Given the description of an element on the screen output the (x, y) to click on. 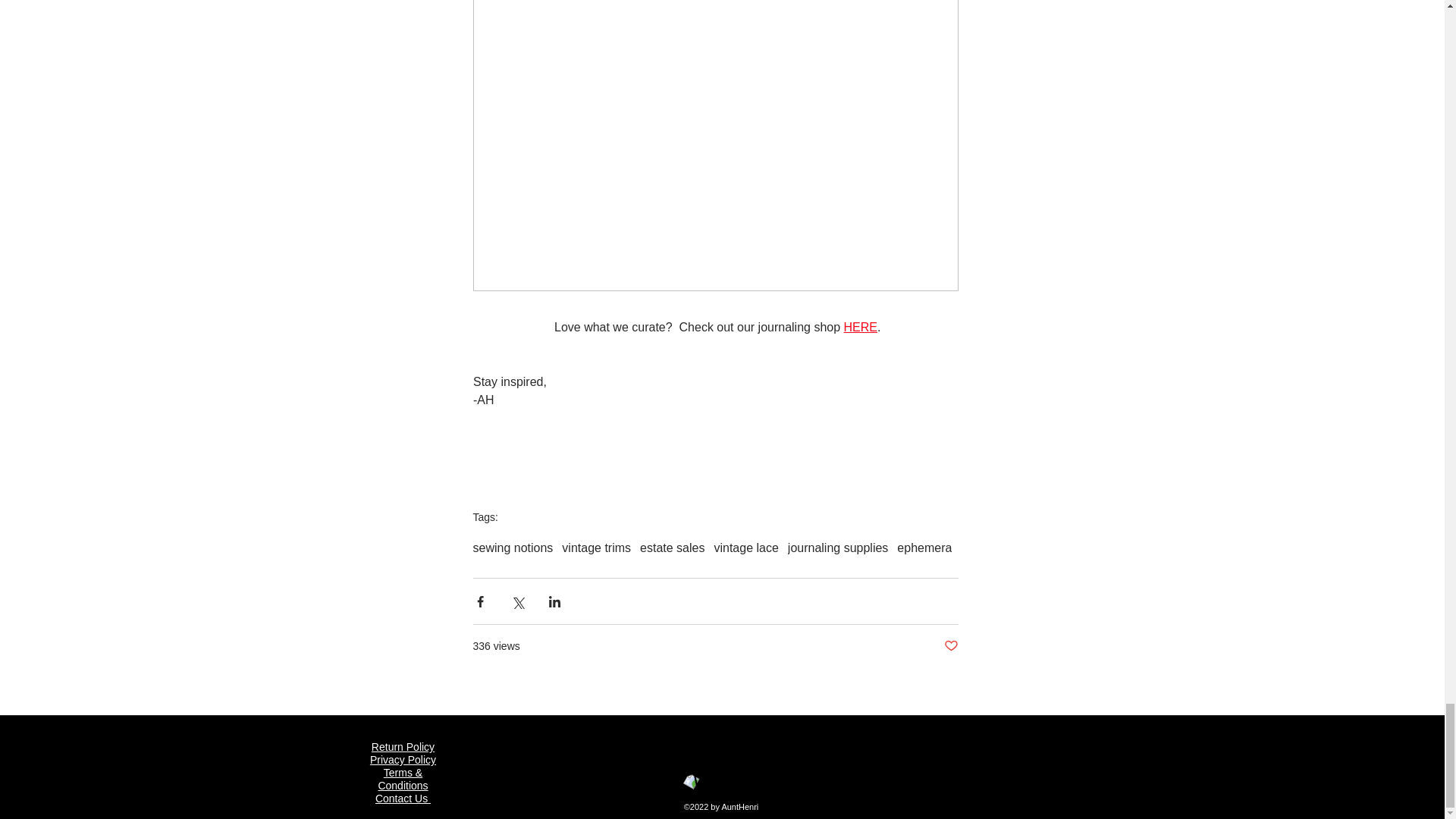
vintage lace (745, 548)
journaling supplies (837, 548)
Post not marked as liked (950, 646)
Privacy Policy (402, 759)
HERE (859, 327)
sewing notions (513, 548)
vintage trims (596, 548)
Return Policy (402, 746)
Contact Us  (402, 798)
estate sales (672, 548)
